Given the description of an element on the screen output the (x, y) to click on. 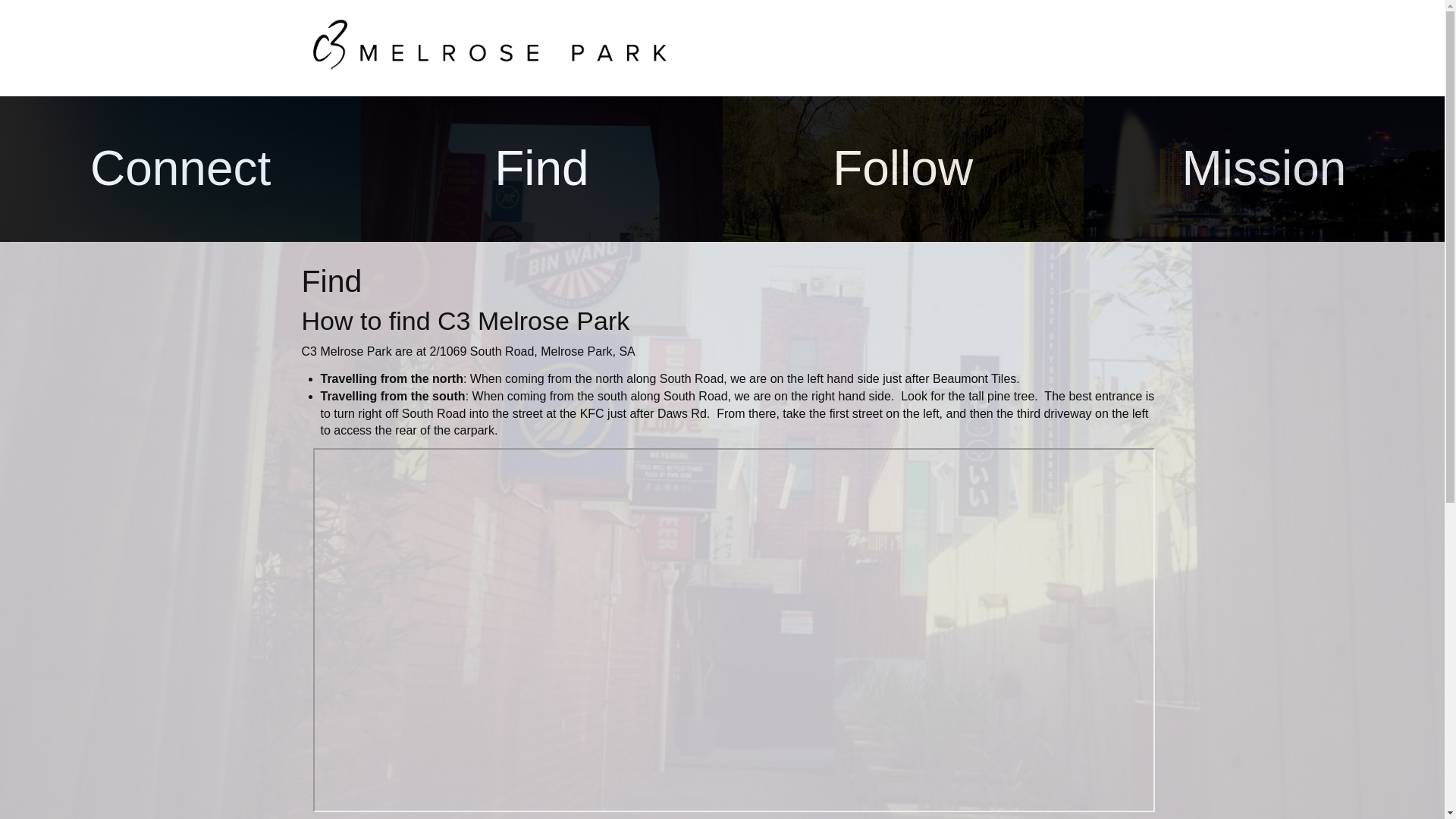
Follow Element type: text (901, 168)
Connect Element type: text (180, 168)
Find Element type: text (540, 168)
Mission Element type: text (1263, 168)
